Given the description of an element on the screen output the (x, y) to click on. 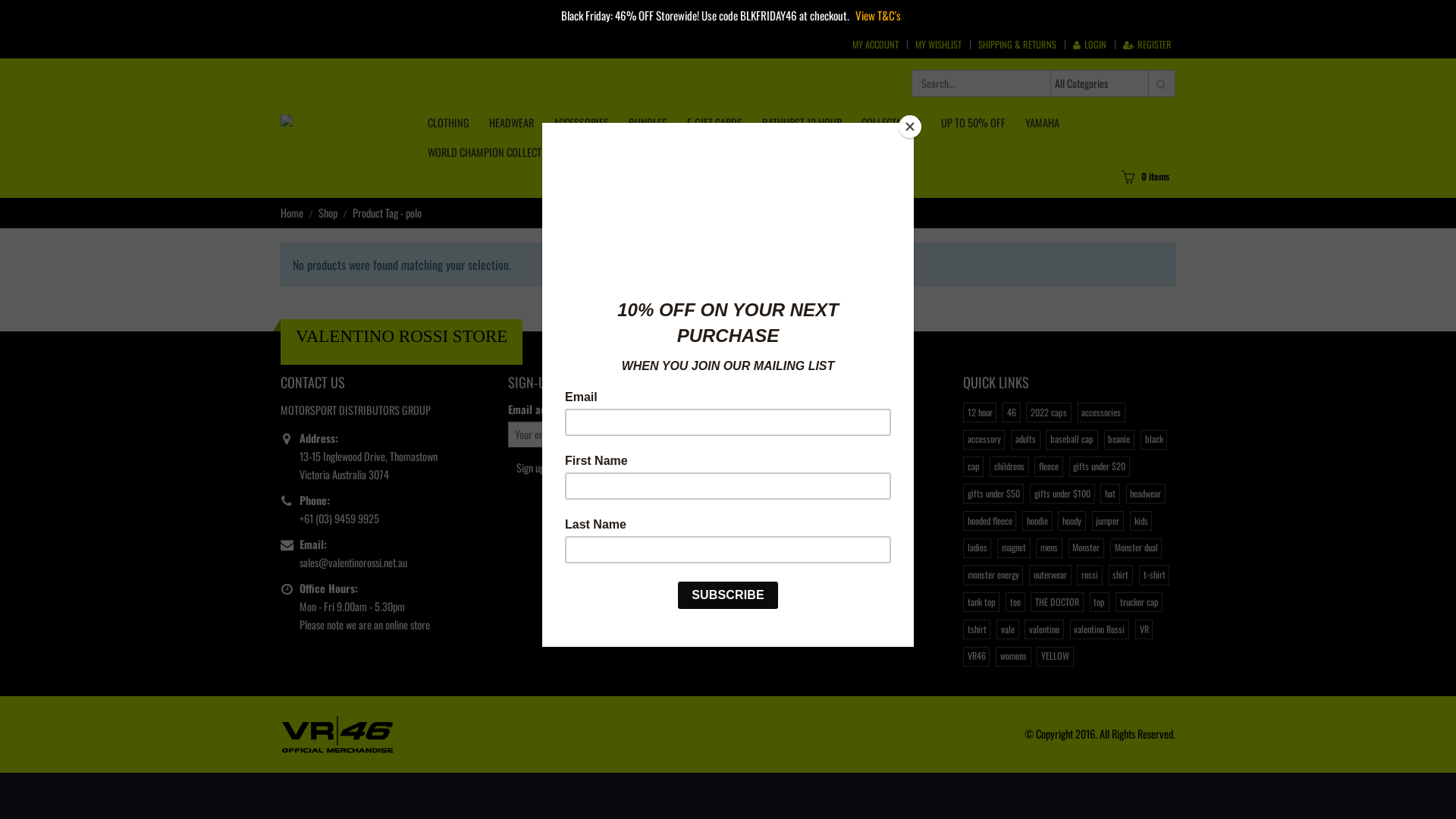
46 Element type: text (1010, 412)
VALENTINO ROSSI STORE Element type: text (401, 335)
gifts under $50 Element type: text (993, 493)
hooded fleece Element type: text (989, 520)
childrens Element type: text (1008, 466)
BUNDLES Element type: text (647, 122)
gifts under $100 Element type: text (1061, 493)
gifts under $20 Element type: text (1099, 466)
top Element type: text (1099, 601)
accessories Element type: text (1101, 412)
ACCESSORIES Element type: text (581, 122)
cap Element type: text (973, 466)
View T&C's Element type: text (877, 14)
YELLOW Element type: text (1054, 656)
THE DOCTOR Element type: text (1056, 601)
Home Element type: text (291, 212)
trucker cap Element type: text (1138, 601)
fleece Element type: text (1048, 466)
HEADWEAR Element type: text (511, 122)
magnet Element type: text (1013, 548)
valentino Element type: text (1043, 629)
tshirt Element type: text (976, 629)
monster energy Element type: text (992, 574)
kids Element type: text (1140, 520)
Instagram Element type: text (825, 415)
Twitter Element type: text (773, 415)
REGISTER Element type: text (1147, 44)
shirt Element type: text (1120, 574)
valentino Rossi Element type: text (1099, 629)
YAMAHA Element type: text (1042, 122)
ladies Element type: text (977, 548)
Contact Us Element type: text (574, 542)
LOGIN Element type: text (1089, 44)
VR46 Official Merchandise  -  Element type: hover (337, 732)
VR Element type: text (1143, 629)
MY ACCOUNT Element type: text (875, 44)
mens Element type: text (1048, 548)
sales@valentinorossi.net.au Element type: text (353, 562)
Shop Element type: text (327, 212)
adults Element type: text (1024, 439)
2022 caps Element type: text (1048, 412)
vale Element type: text (1007, 629)
WORLD CHAMPION COLLECTION Element type: text (491, 152)
SHIPPING & RETURNS Element type: text (1017, 44)
COLLECTABLES Element type: text (891, 122)
MY WISHLIST Element type: text (938, 44)
VR46 Official Merchandise  -  Element type: hover (341, 127)
accessory Element type: text (983, 439)
Search Element type: hover (1161, 83)
Sign up Element type: text (530, 468)
tank top Element type: text (981, 601)
CLOTHING Element type: text (448, 122)
rossi Element type: text (1088, 574)
12 hour Element type: text (979, 412)
jumper Element type: text (1107, 520)
Youtube Element type: text (799, 415)
hoody Element type: text (1071, 520)
womens Element type: text (1012, 656)
black Element type: text (1153, 439)
beanie Element type: text (1119, 439)
tee Element type: text (1014, 601)
BATHURST 12 HOUR Element type: text (801, 122)
baseball cap Element type: text (1071, 439)
headwear Element type: text (1145, 493)
hat Element type: text (1109, 493)
E-GIFT CARDS Element type: text (714, 122)
UP TO 50% OFF Element type: text (972, 122)
Monster Element type: text (1086, 548)
Facebook Element type: text (748, 415)
VR46 Element type: text (976, 656)
t-shirt Element type: text (1154, 574)
hoodie Element type: text (1036, 520)
outerwear Element type: text (1049, 574)
Monster dual Element type: text (1135, 548)
